Given the description of an element on the screen output the (x, y) to click on. 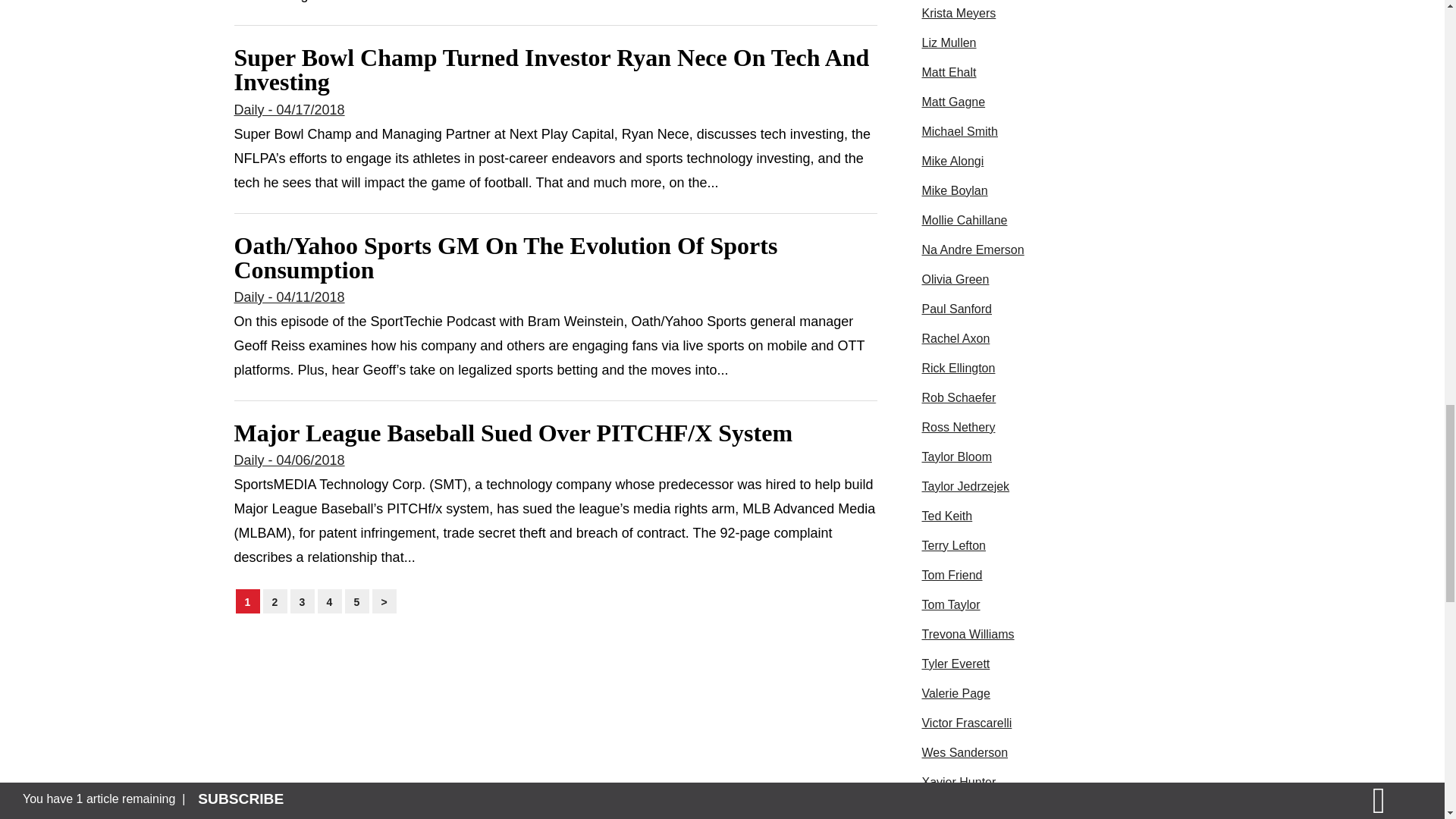
3rd party ad content (1034, 811)
